Given the description of an element on the screen output the (x, y) to click on. 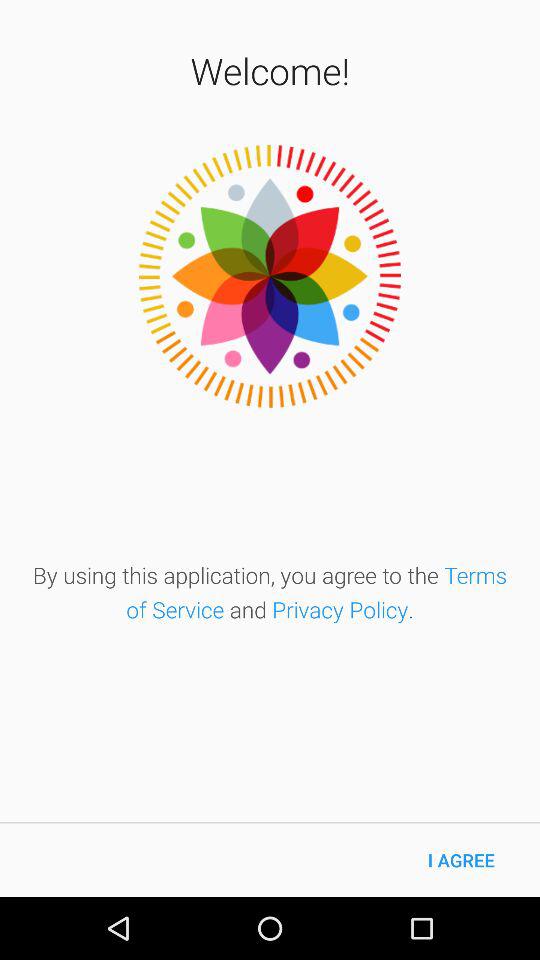
scroll to the by using this item (270, 592)
